Given the description of an element on the screen output the (x, y) to click on. 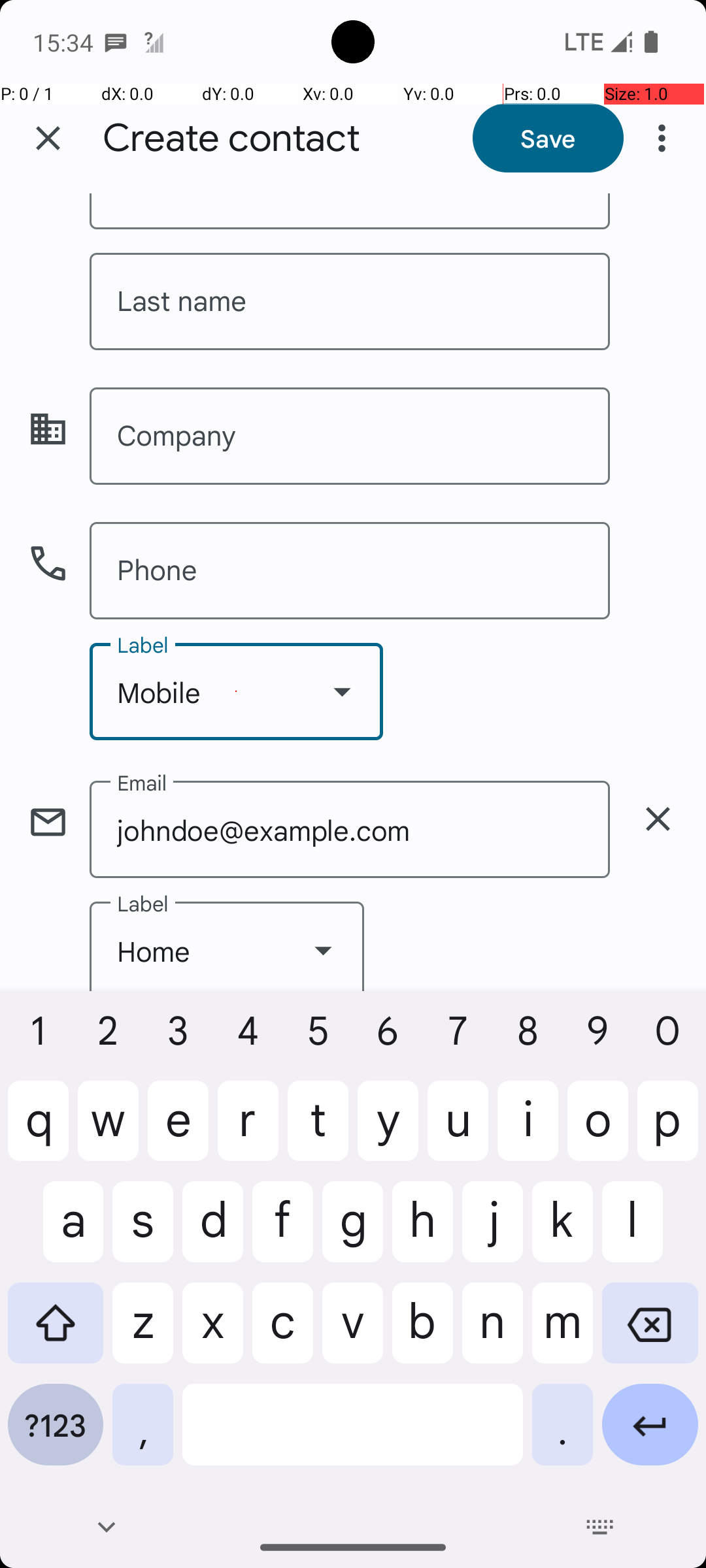
johndoe@example.com Element type: android.widget.EditText (349, 829)
Delete Home Email Element type: android.widget.FrameLayout (657, 818)
delete Element type: android.widget.ImageView (657, 818)
